Given the description of an element on the screen output the (x, y) to click on. 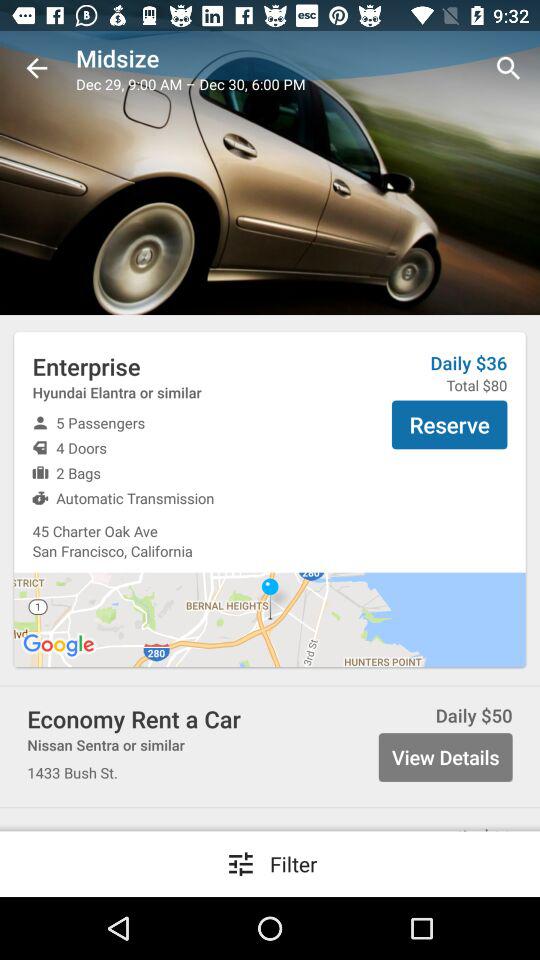
click on reserve (449, 425)
click on google (60, 645)
select search icon (508, 68)
